Given the description of an element on the screen output the (x, y) to click on. 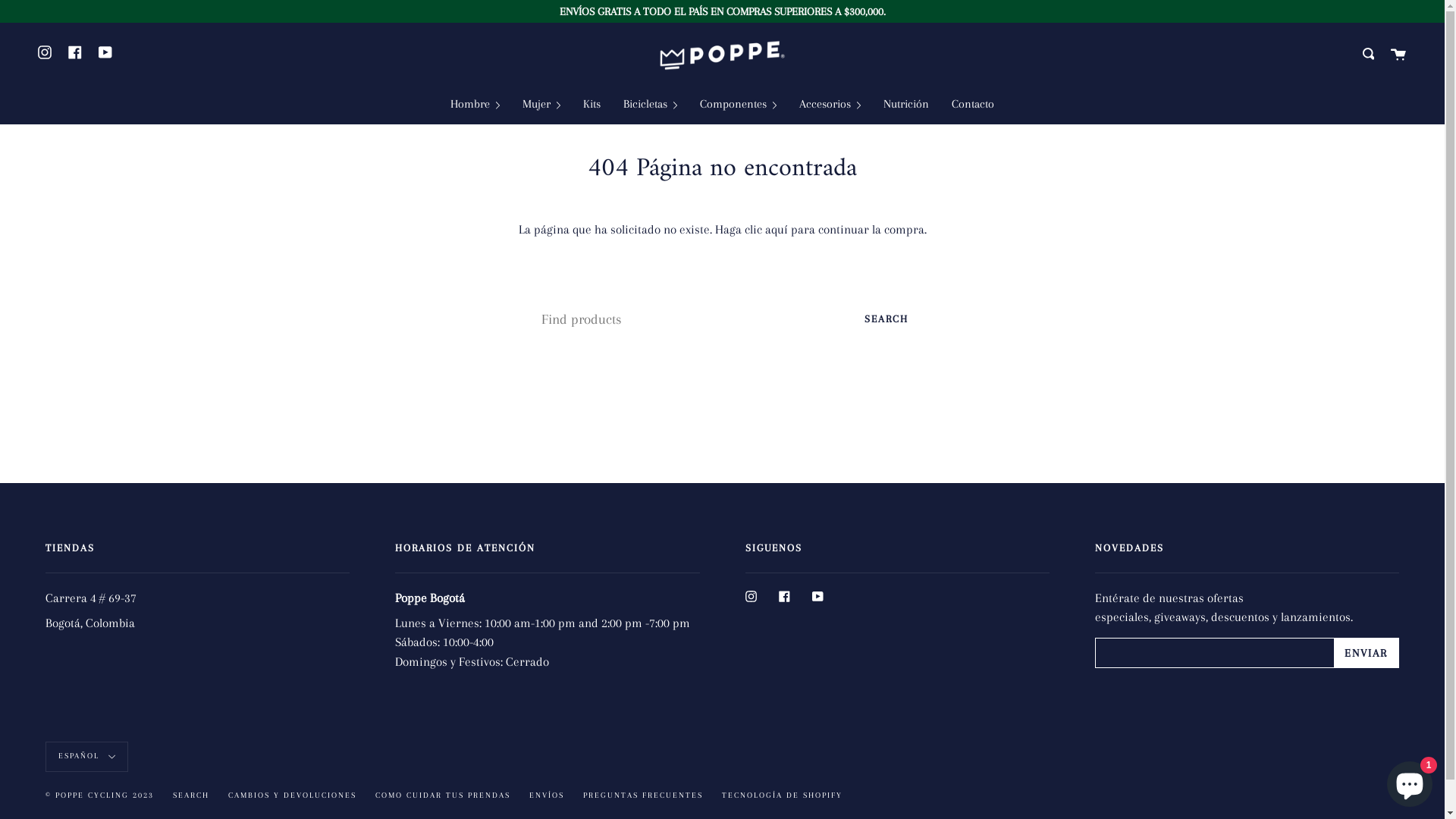
Accesorios Element type: text (829, 104)
Enviar Element type: text (1368, 53)
Componentes Element type: text (737, 104)
YouTube Element type: text (817, 595)
Instagram Element type: text (750, 595)
Kits Element type: text (591, 104)
SEARCH Element type: text (190, 794)
COMO CUIDAR TUS PRENDAS Element type: text (442, 794)
Instagram Element type: text (44, 51)
Contacto Element type: text (972, 104)
Enviar Element type: text (1365, 652)
Hombre Element type: text (475, 104)
Facebook Element type: text (74, 51)
Facebook Element type: text (784, 595)
Chat de la tienda online Shopify Element type: hover (1409, 780)
CAMBIOS Y DEVOLUCIONES Element type: text (292, 794)
Carrito de compras Element type: text (1398, 53)
Mujer Element type: text (541, 104)
YouTube Element type: text (105, 51)
Bicicletas Element type: text (649, 104)
PREGUNTAS FRECUENTES Element type: text (642, 794)
SEARCH Element type: text (886, 318)
